Given the description of an element on the screen output the (x, y) to click on. 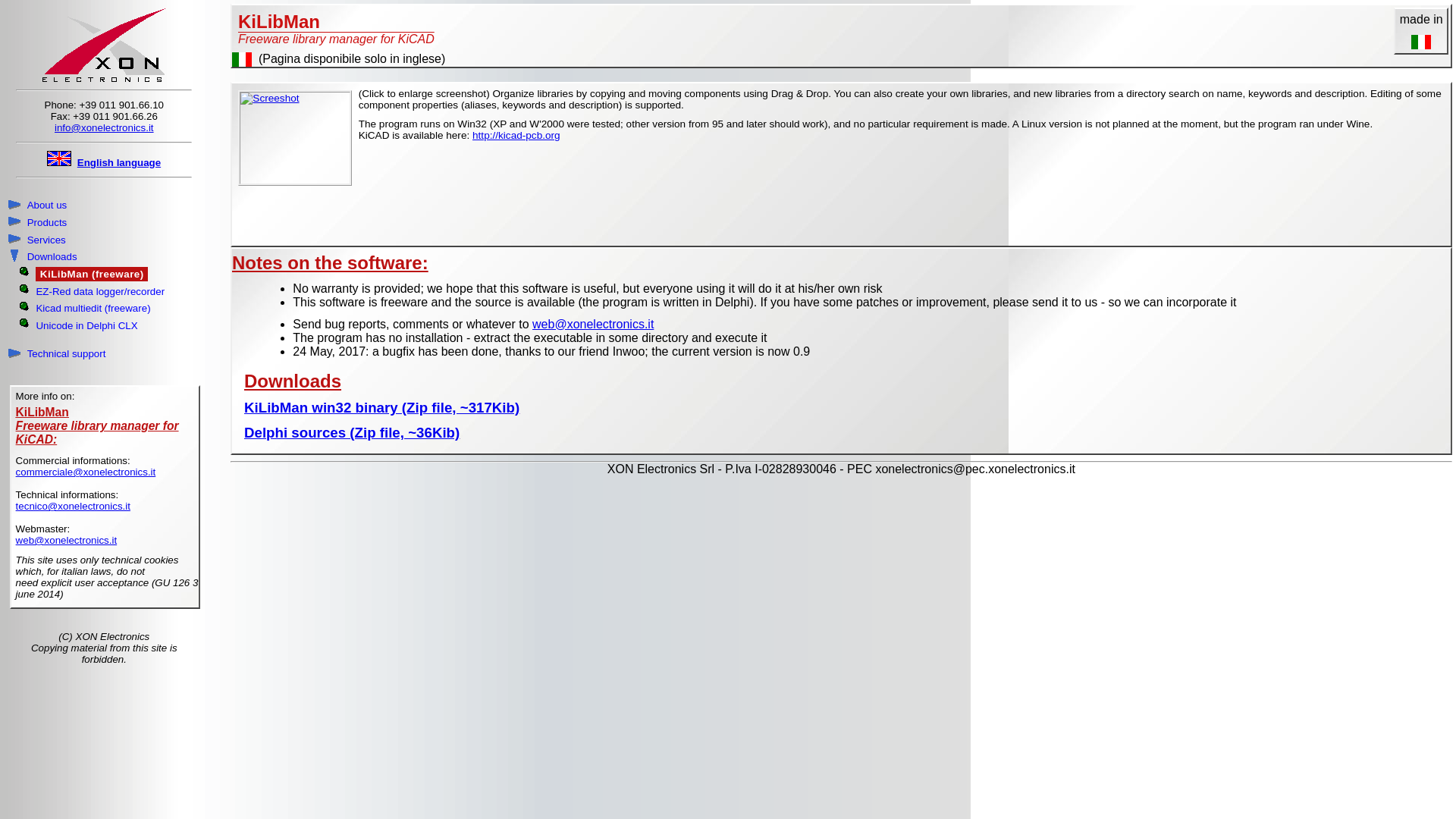
Unicode in Delphi CLX (86, 325)
Firmware updates and other documents (52, 256)
How to get a unicode StringGrid to work (86, 325)
Downloads (52, 256)
Products (46, 222)
Technical support (66, 353)
About us (46, 205)
English language (118, 162)
Services (46, 240)
